Given the description of an element on the screen output the (x, y) to click on. 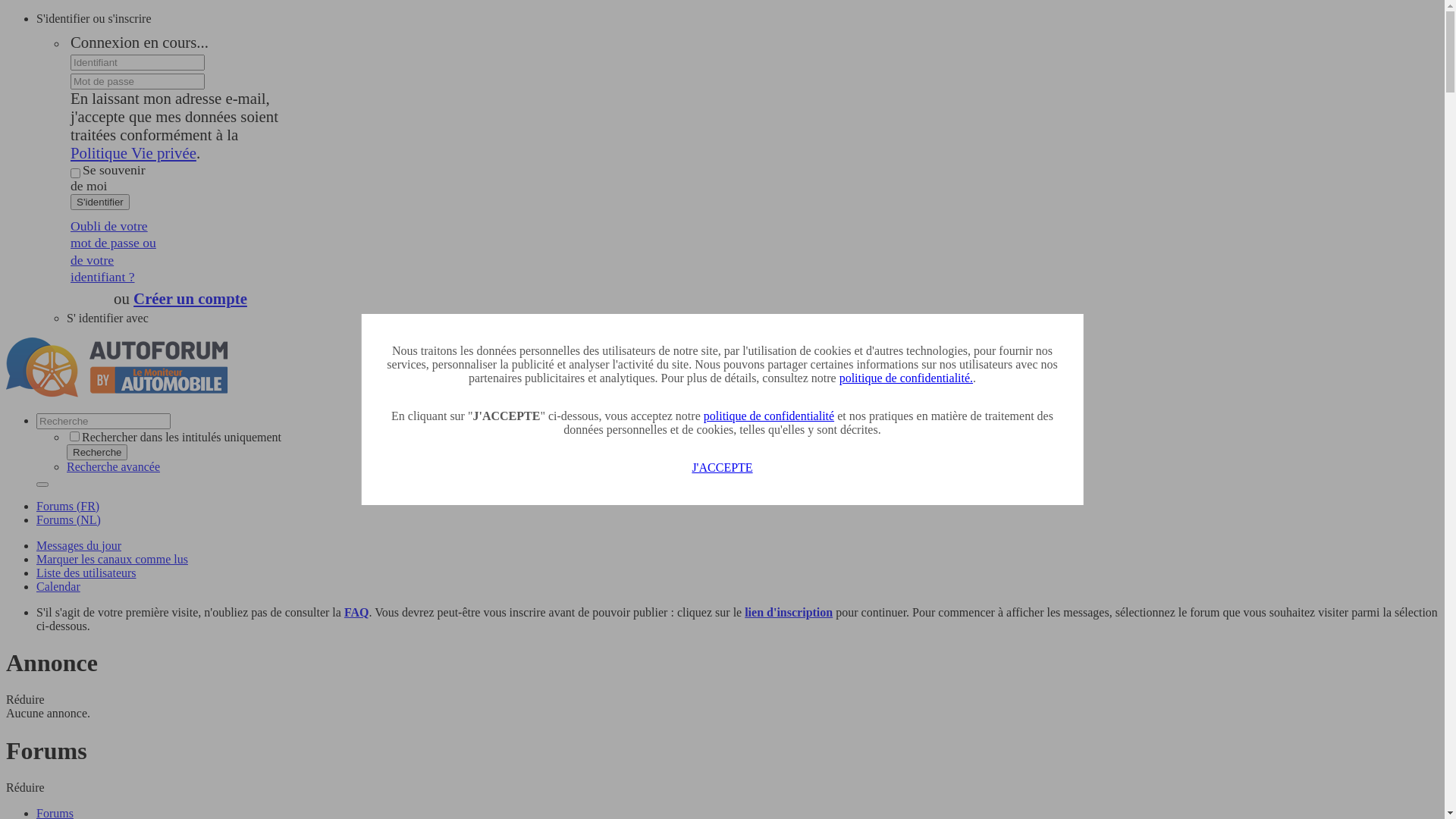
lien d'inscription Element type: text (788, 611)
Forums (FR) Element type: text (67, 505)
Marquer les canaux comme lus Element type: text (112, 558)
Forums (NL) Element type: text (68, 519)
Oubli de votre mot de passe ou de votre identifiant ? Element type: text (114, 251)
Powered by vBulletin Element type: hover (117, 367)
Recherche Element type: hover (42, 484)
FAQ Element type: text (356, 611)
Calendar Element type: text (58, 586)
Messages du jour Element type: text (78, 545)
Recherche Element type: text (96, 452)
S'identifier Element type: text (99, 202)
Liste des utilisateurs Element type: text (86, 572)
J'ACCEPTE Element type: text (721, 467)
